Given the description of an element on the screen output the (x, y) to click on. 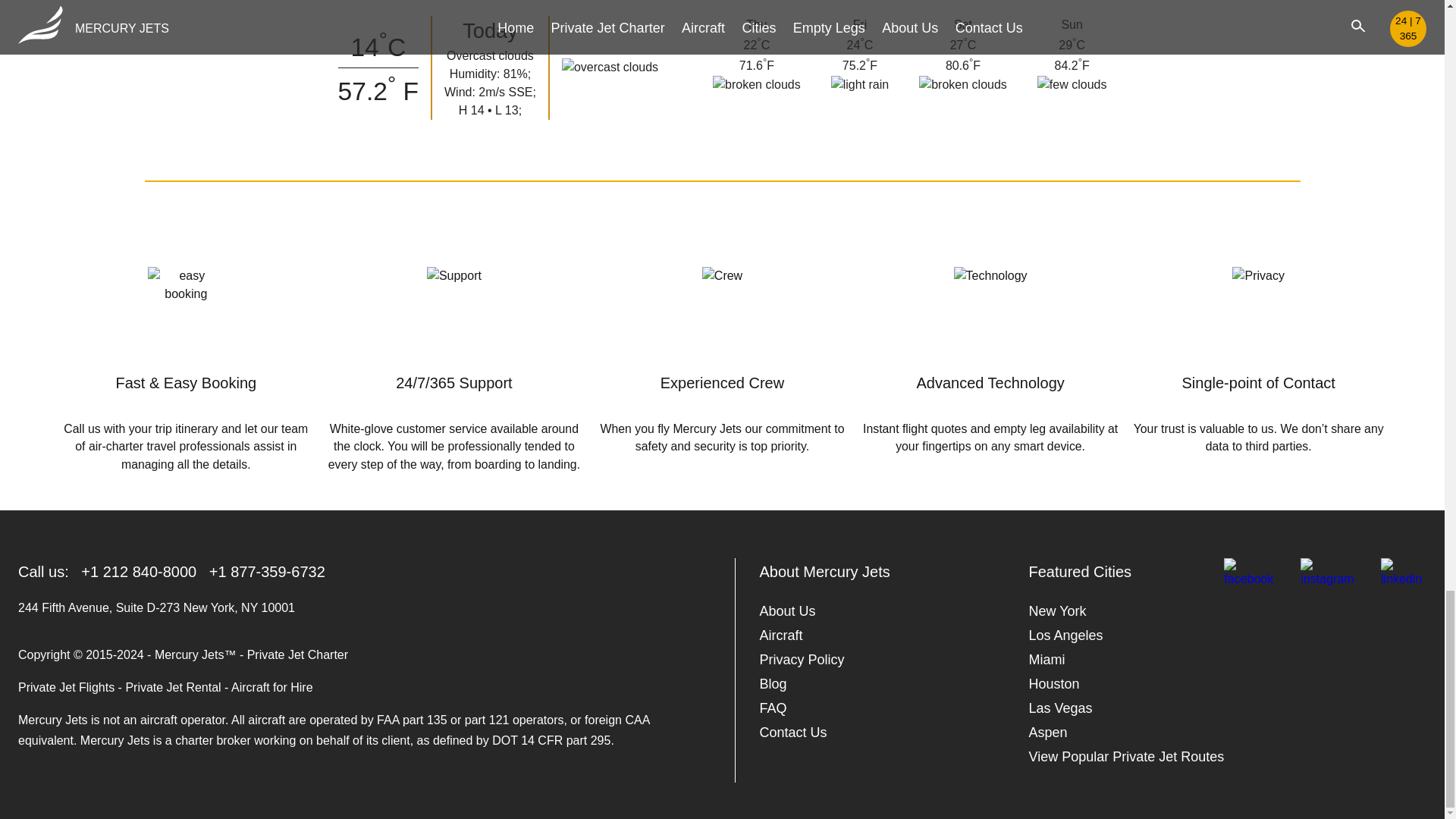
Blog (773, 683)
Privacy Policy (802, 659)
Aircraft (781, 635)
About Us (787, 610)
